Given the description of an element on the screen output the (x, y) to click on. 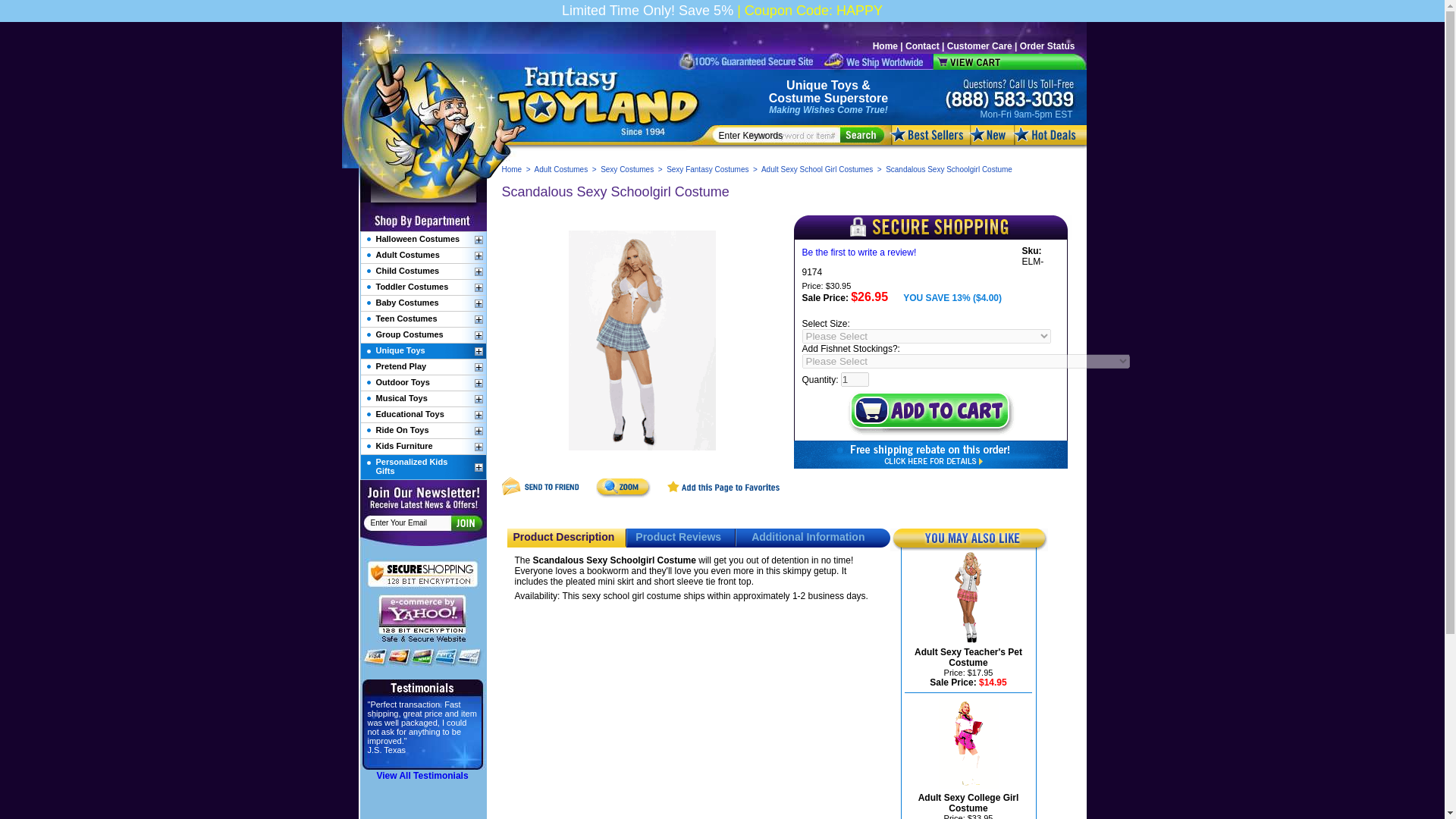
1 (855, 379)
Select Size (926, 336)
Adult Sexy Teacher's Pet Costume (968, 657)
Sexy Costumes (626, 169)
Enter Keywords (779, 134)
Be the first to write a review! (859, 252)
Home (885, 45)
Costume (794, 97)
bookmark this page (723, 494)
Order Status (1047, 45)
